Given the description of an element on the screen output the (x, y) to click on. 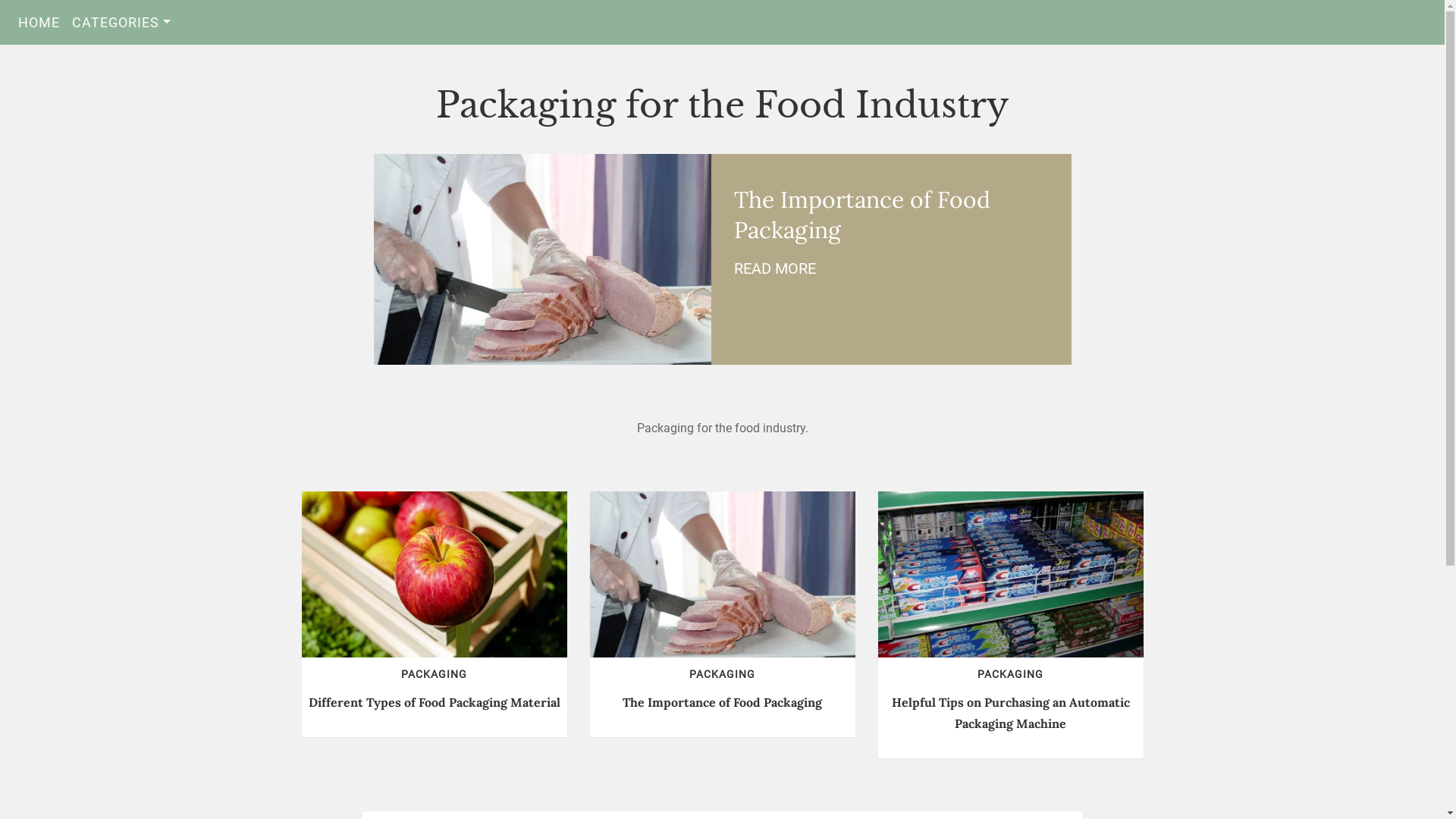
HOME Element type: text (38, 22)
PACKAGING Element type: text (722, 674)
PACKAGING Element type: text (1010, 674)
CATEGORIES Element type: text (120, 22)
PACKAGING Element type: text (434, 674)
Helpful Tips on Purchasing an Automatic Packaging Machine Element type: text (1010, 712)
Different Types of Food Packaging Material Element type: text (433, 701)
The Importance of Food Packaging Element type: text (722, 701)
Packaging for the Food Industry Element type: text (722, 104)
READ MORE Element type: text (774, 268)
